Given the description of an element on the screen output the (x, y) to click on. 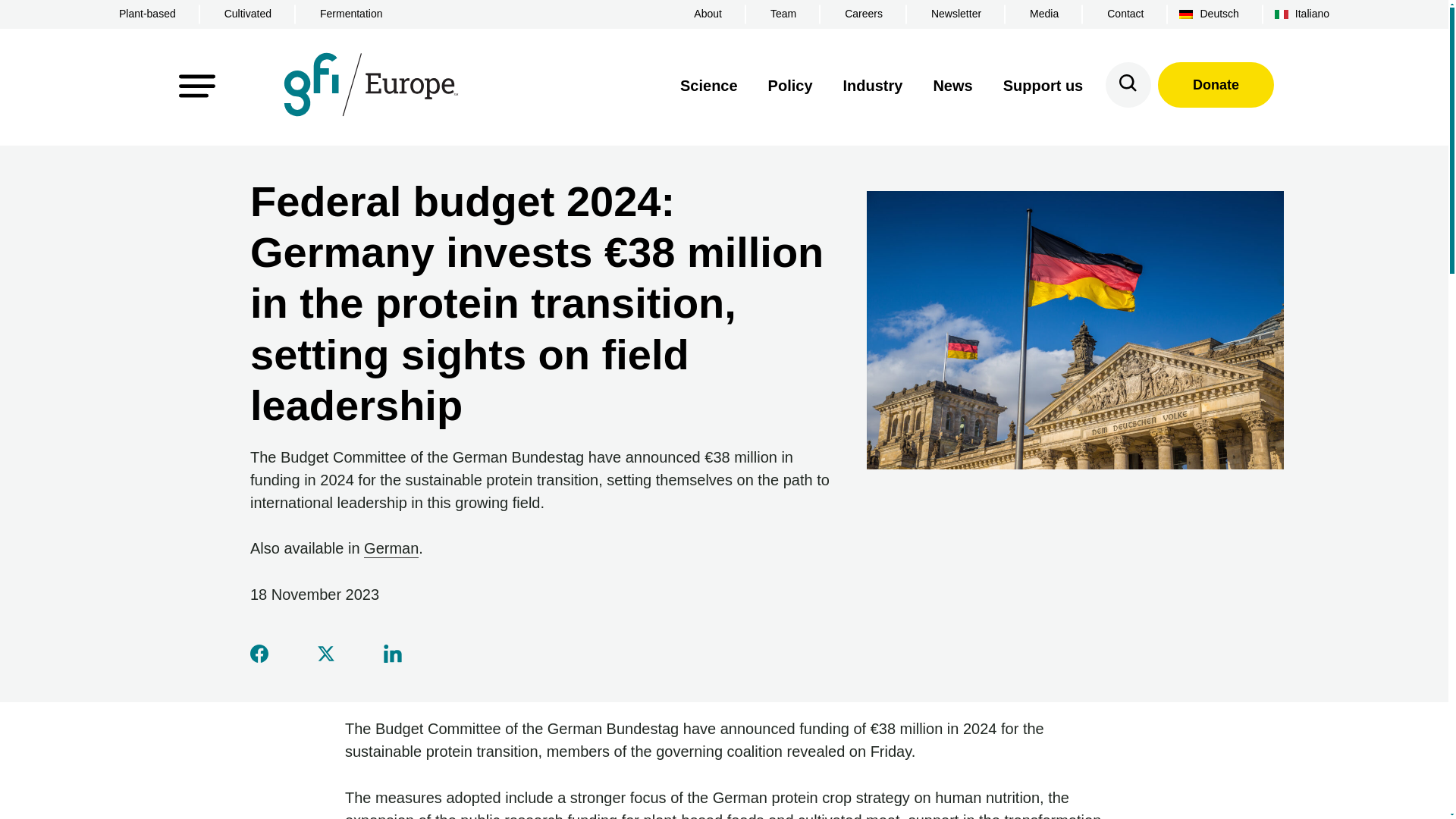
Careers (864, 14)
Team (783, 14)
Media (1044, 14)
Plant-based (147, 14)
Contact (1125, 14)
Cultivated (247, 14)
About (707, 14)
Newsletter (956, 14)
Italiano (1312, 14)
Deutsch (1218, 14)
Fermentation (350, 14)
